Given the description of an element on the screen output the (x, y) to click on. 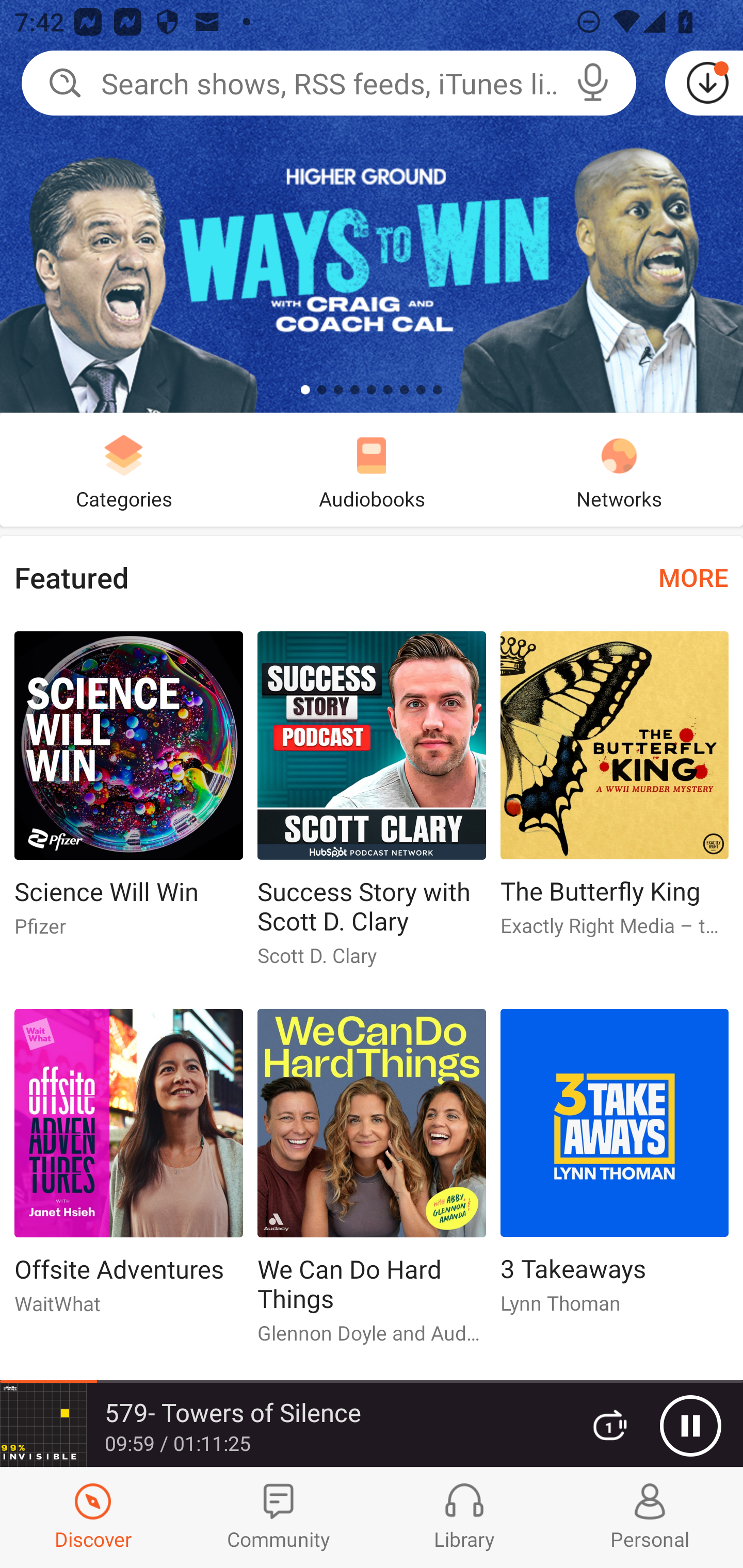
Ways To Win (371, 206)
Categories (123, 469)
Audiobooks (371, 469)
Networks (619, 469)
MORE (693, 576)
Science Will Win Science Will Win Pfizer (128, 792)
Offsite Adventures Offsite Adventures WaitWhat (128, 1169)
3 Takeaways 3 Takeaways Lynn Thoman (614, 1169)
579- Towers of Silence 09:59 / 01:11:25 (283, 1424)
Pause (690, 1425)
Discover (92, 1517)
Community (278, 1517)
Library (464, 1517)
Profiles and Settings Personal (650, 1517)
